Given the description of an element on the screen output the (x, y) to click on. 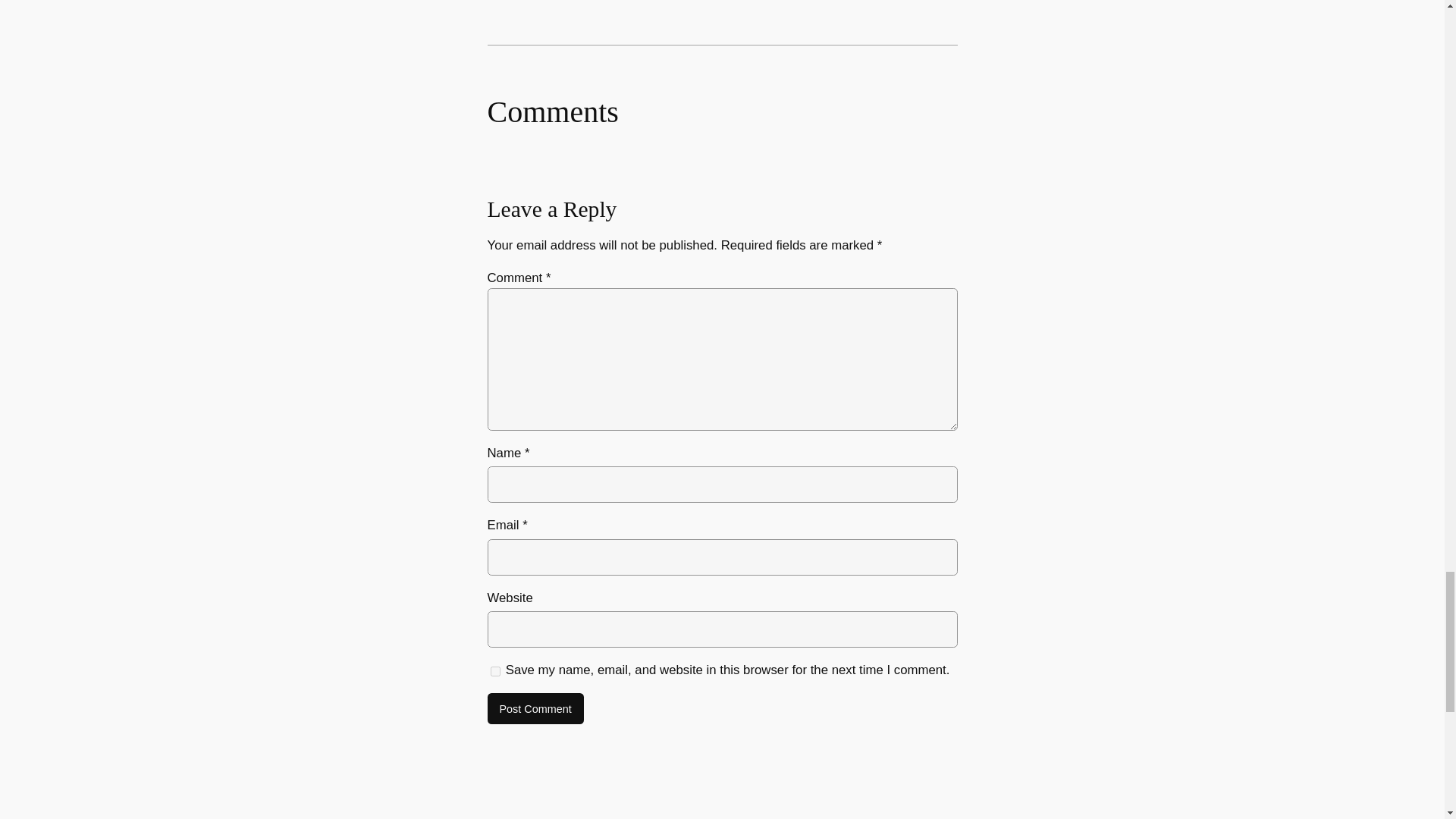
yes (494, 671)
Post Comment (534, 708)
Post Comment (534, 708)
